Given the description of an element on the screen output the (x, y) to click on. 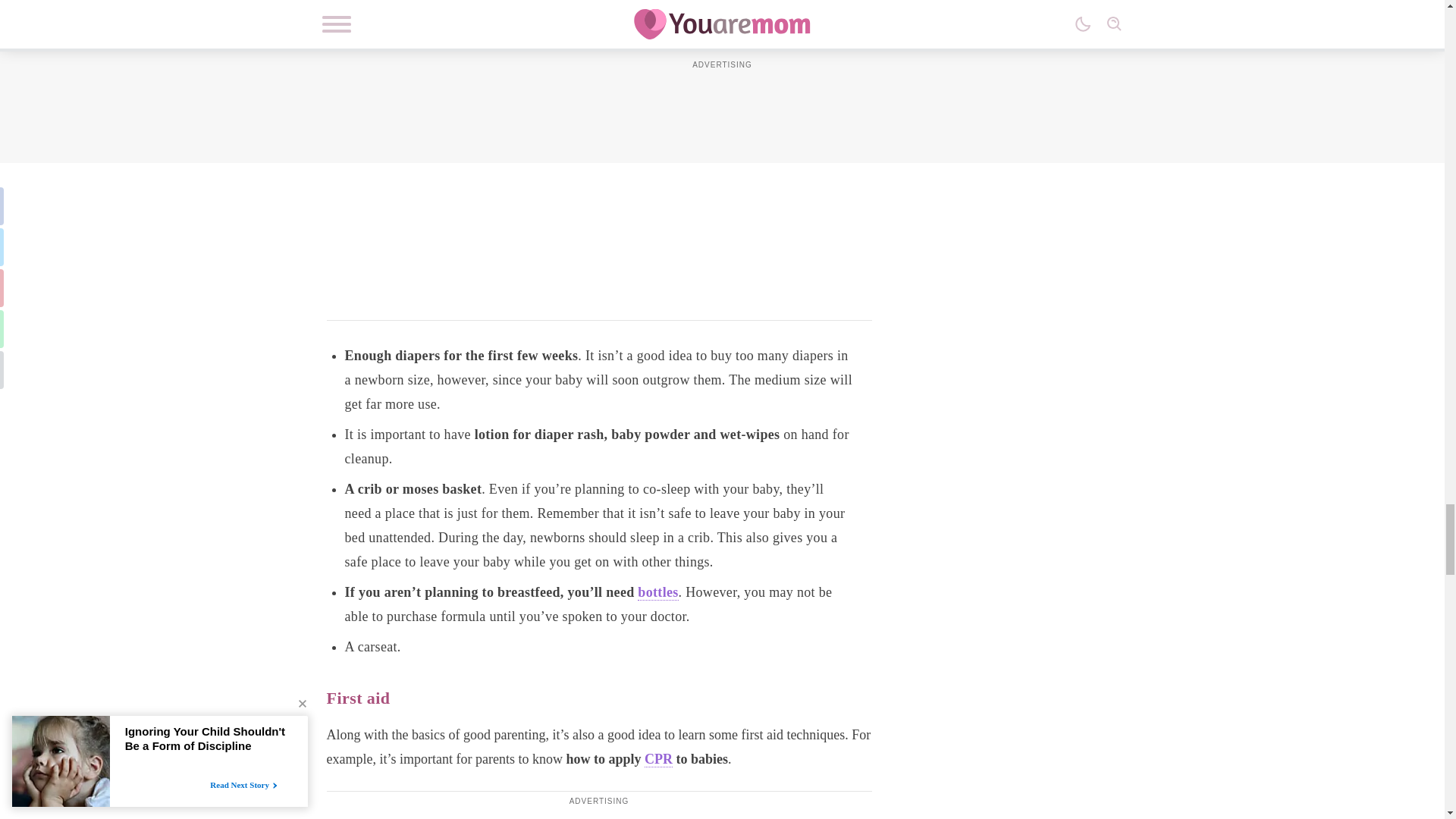
bottles (657, 592)
CPR (658, 759)
